Given the description of an element on the screen output the (x, y) to click on. 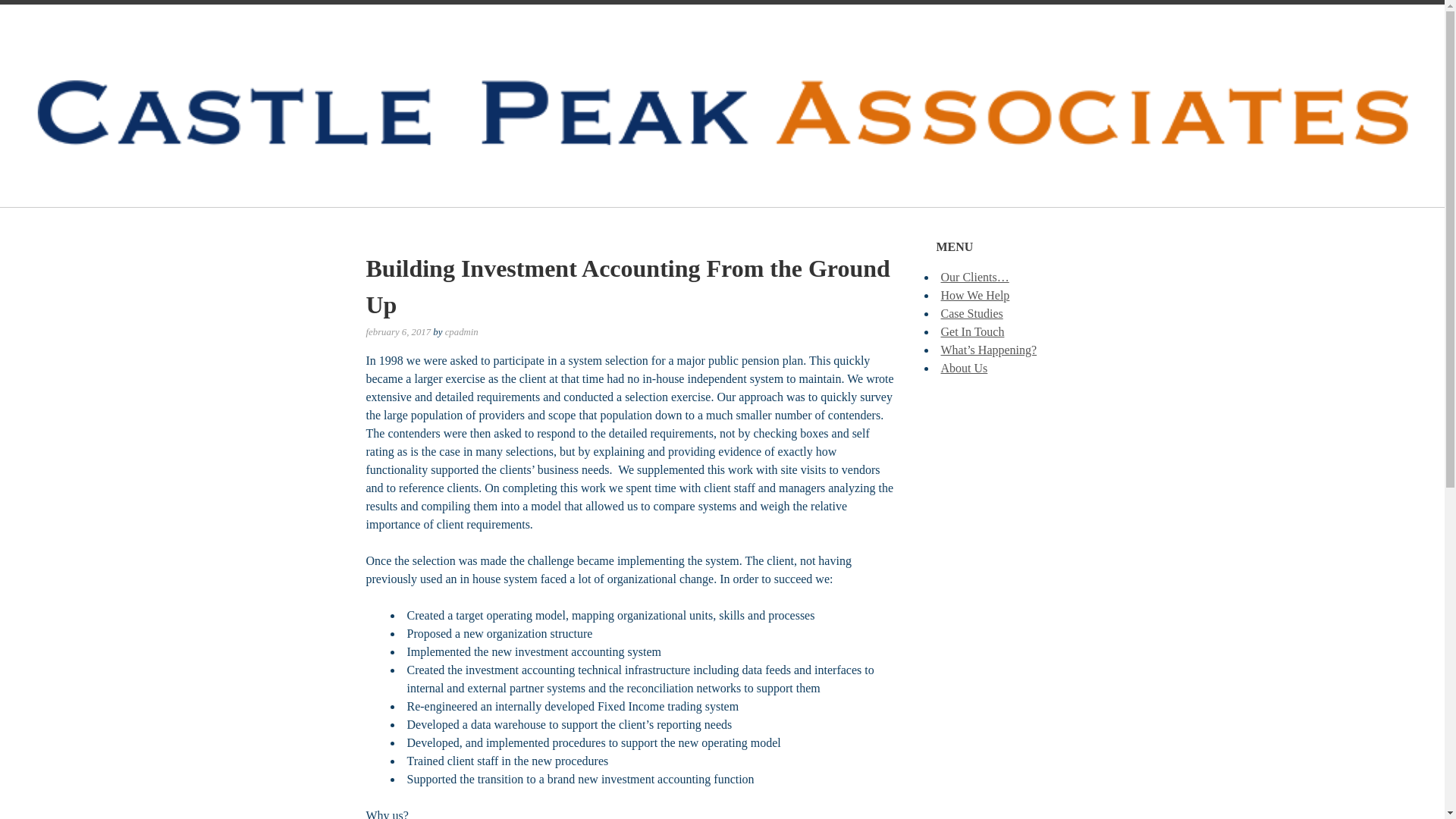
february 6, 2017 (397, 331)
Get In Touch (972, 331)
2:11 pm (397, 331)
Case Studies (971, 313)
About Us (963, 367)
Building Investment Accounting From the Ground Up (627, 286)
How We Help (974, 295)
cpadmin (462, 331)
View all posts by cpadmin (462, 331)
